Given the description of an element on the screen output the (x, y) to click on. 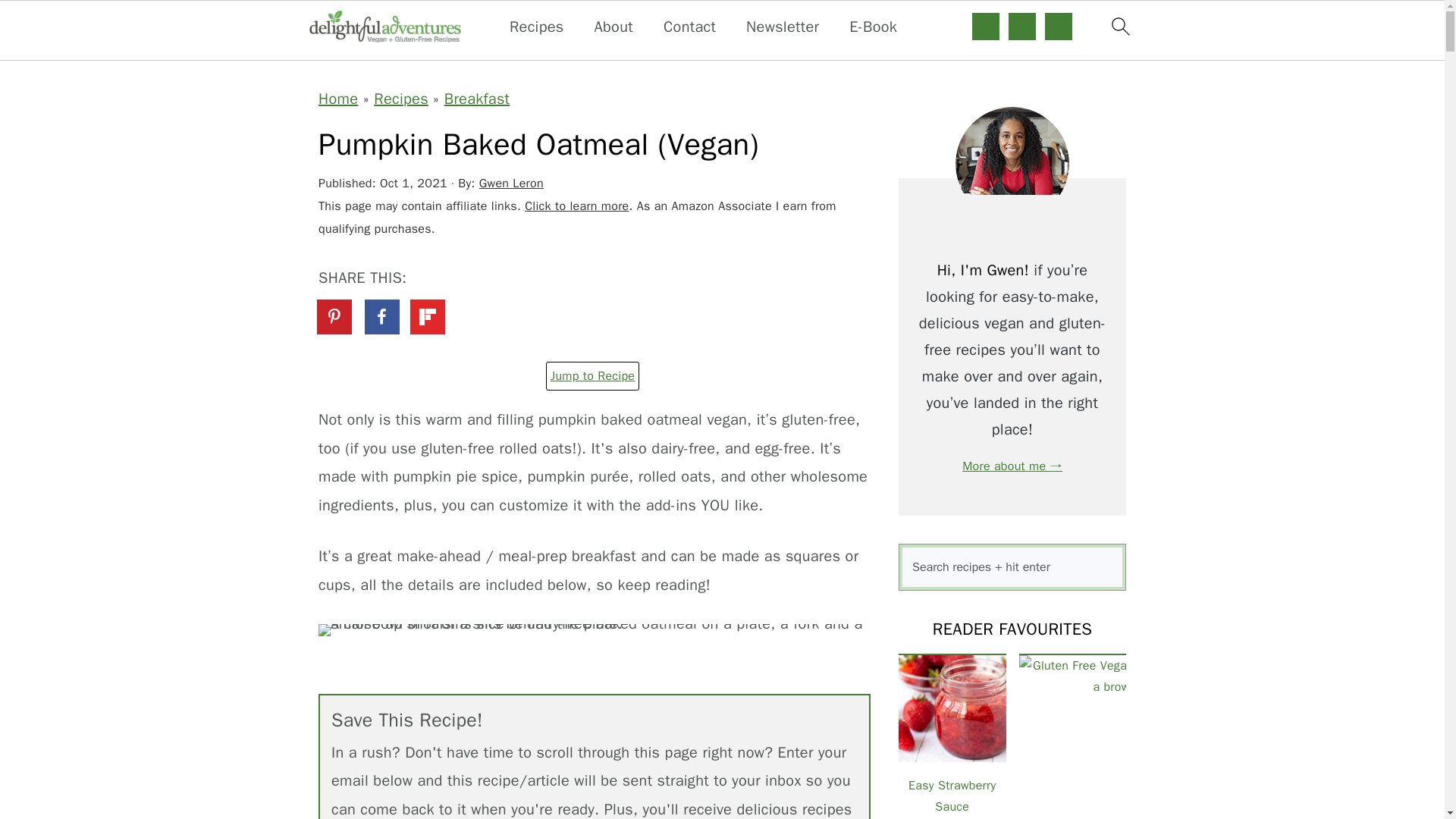
Recipes (401, 98)
Click to learn more (576, 206)
Contact (689, 27)
Recipes (536, 27)
Save to Pinterest (335, 318)
Newsletter (781, 27)
Gwen Leron (511, 183)
Share on Flipboard (427, 316)
About (612, 27)
